Given the description of an element on the screen output the (x, y) to click on. 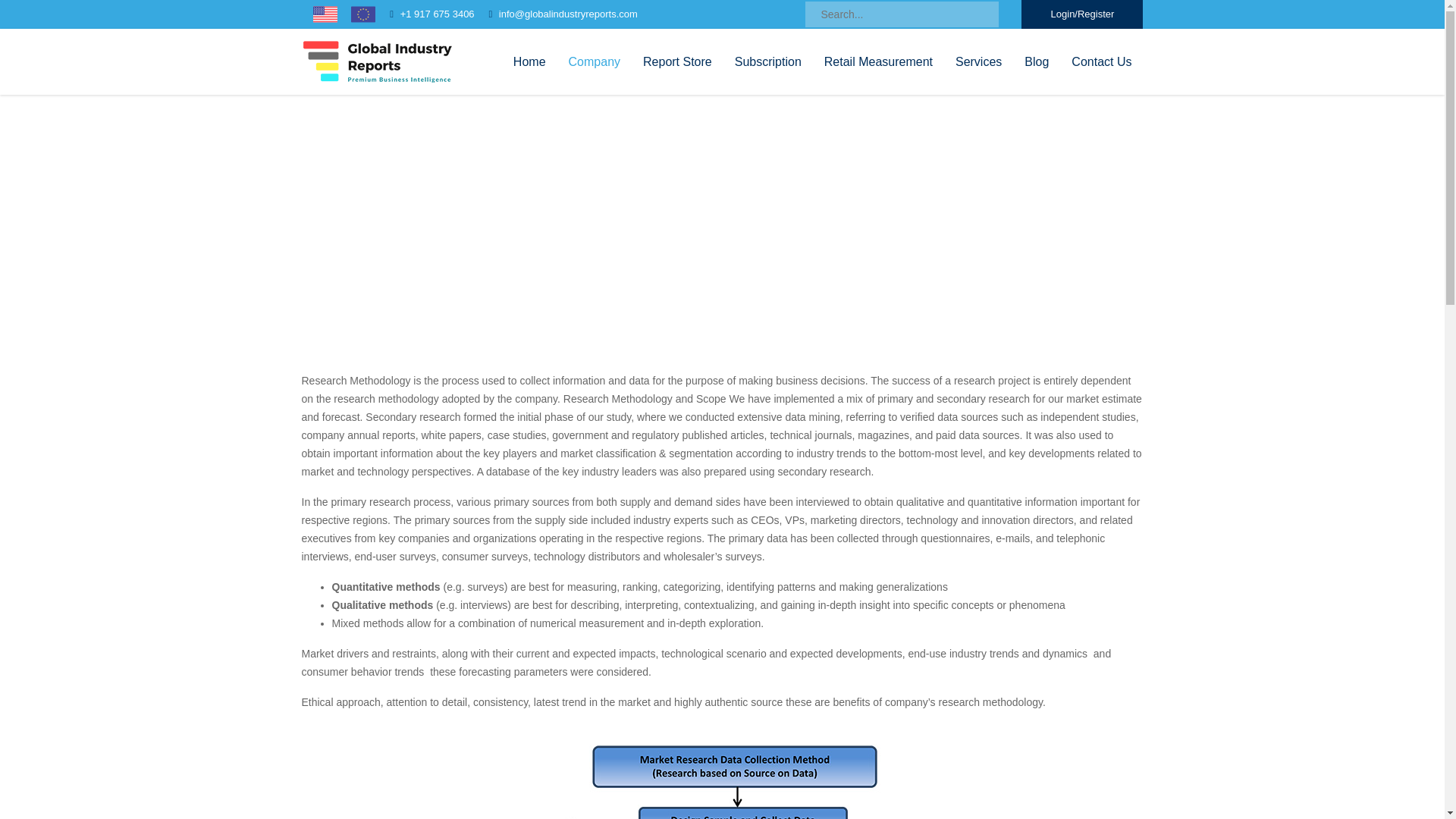
Contact Us (1100, 60)
Company (594, 60)
Blog (1036, 60)
Retail Measurement (877, 60)
Retail Measurement (877, 60)
Subscription (767, 60)
Services (978, 60)
Contact Us (1100, 60)
Home (685, 219)
Report Store (677, 60)
